Given the description of an element on the screen output the (x, y) to click on. 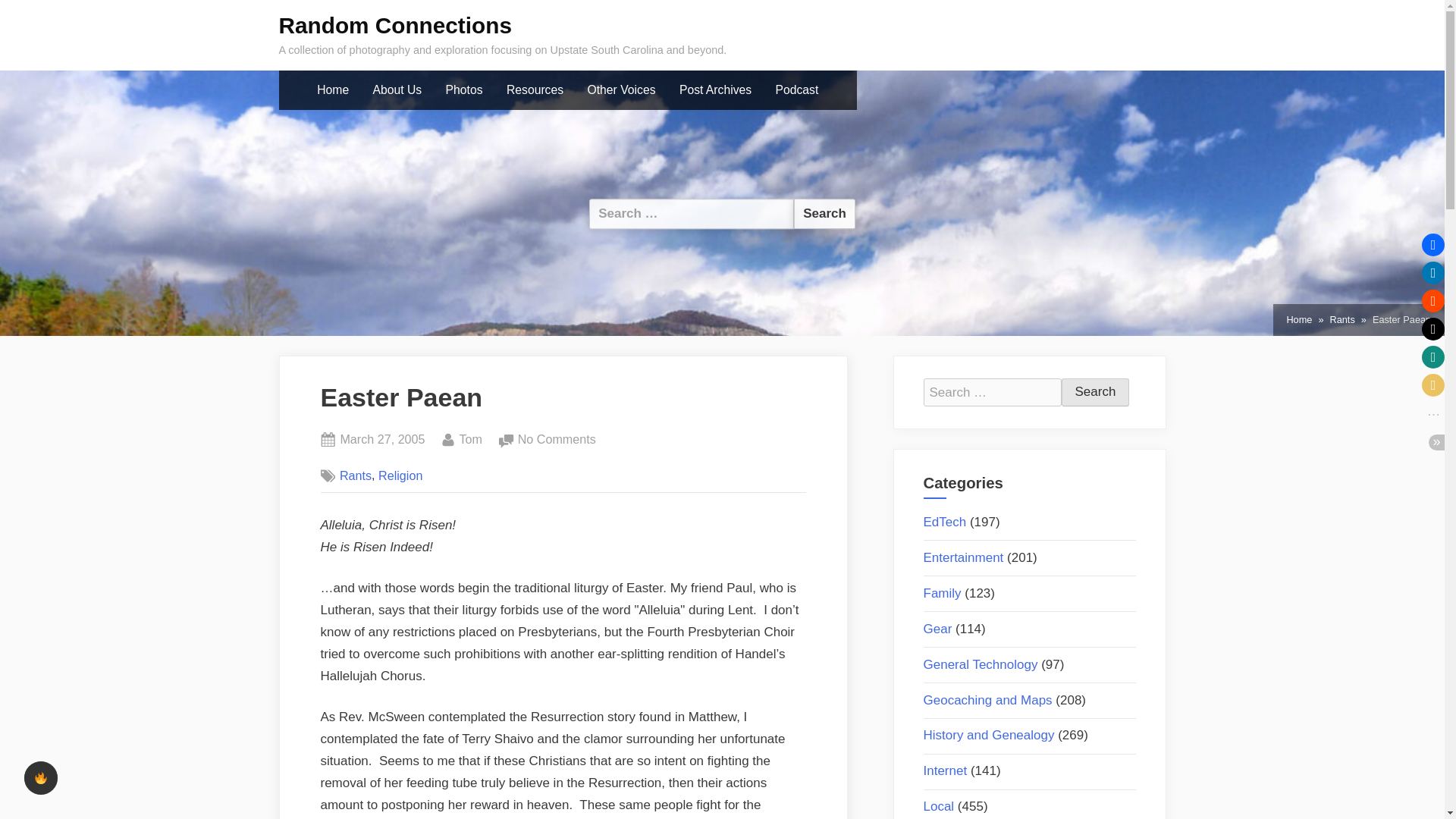
Search (1095, 392)
Internet (945, 770)
Family (941, 593)
Religion (556, 439)
Podcast (400, 475)
History and Genealogy (797, 90)
Rants (988, 735)
Resources (1341, 320)
Local (534, 90)
